Given the description of an element on the screen output the (x, y) to click on. 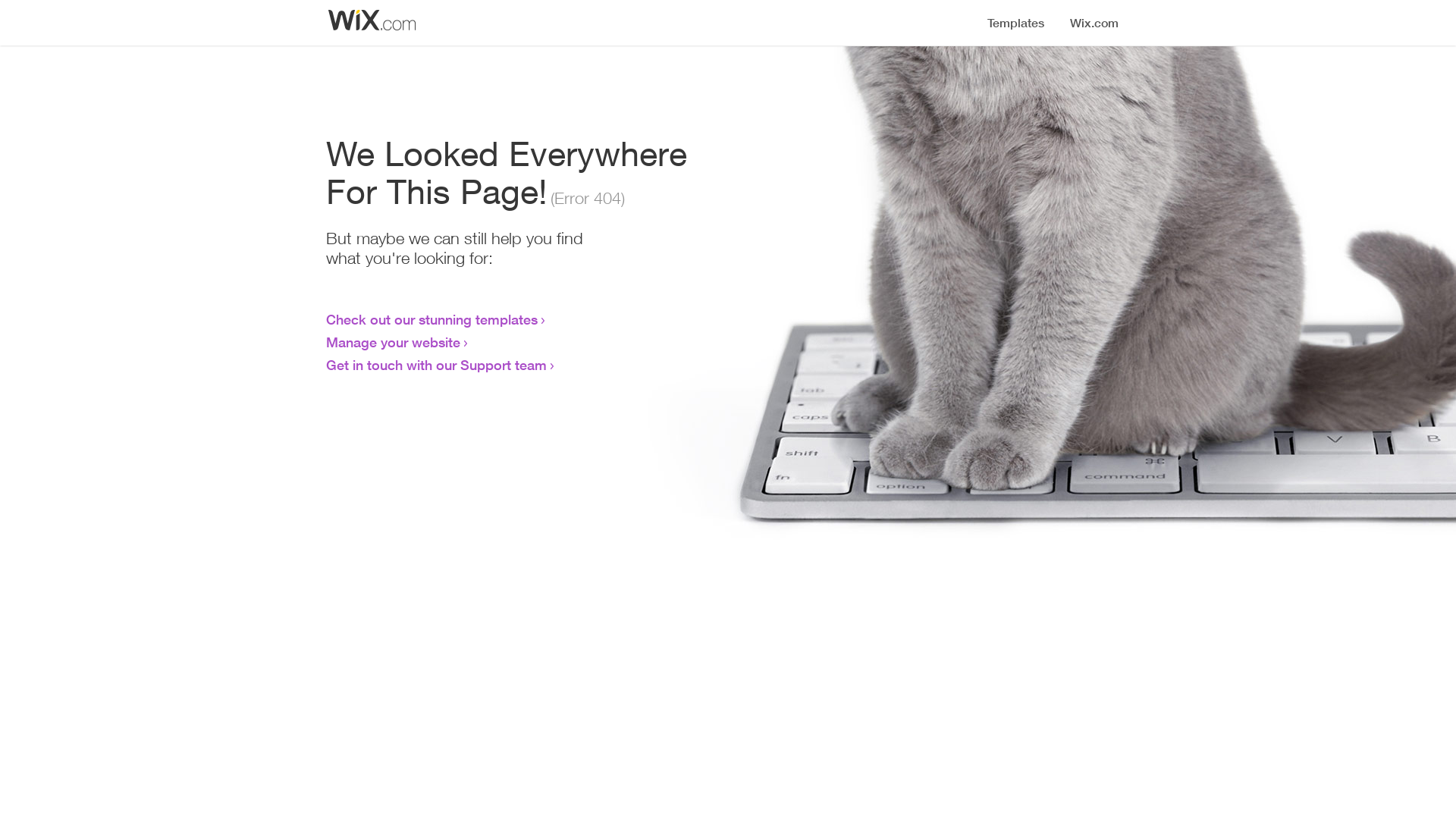
Get in touch with our Support team Element type: text (436, 364)
Check out our stunning templates Element type: text (431, 318)
Manage your website Element type: text (393, 341)
